Given the description of an element on the screen output the (x, y) to click on. 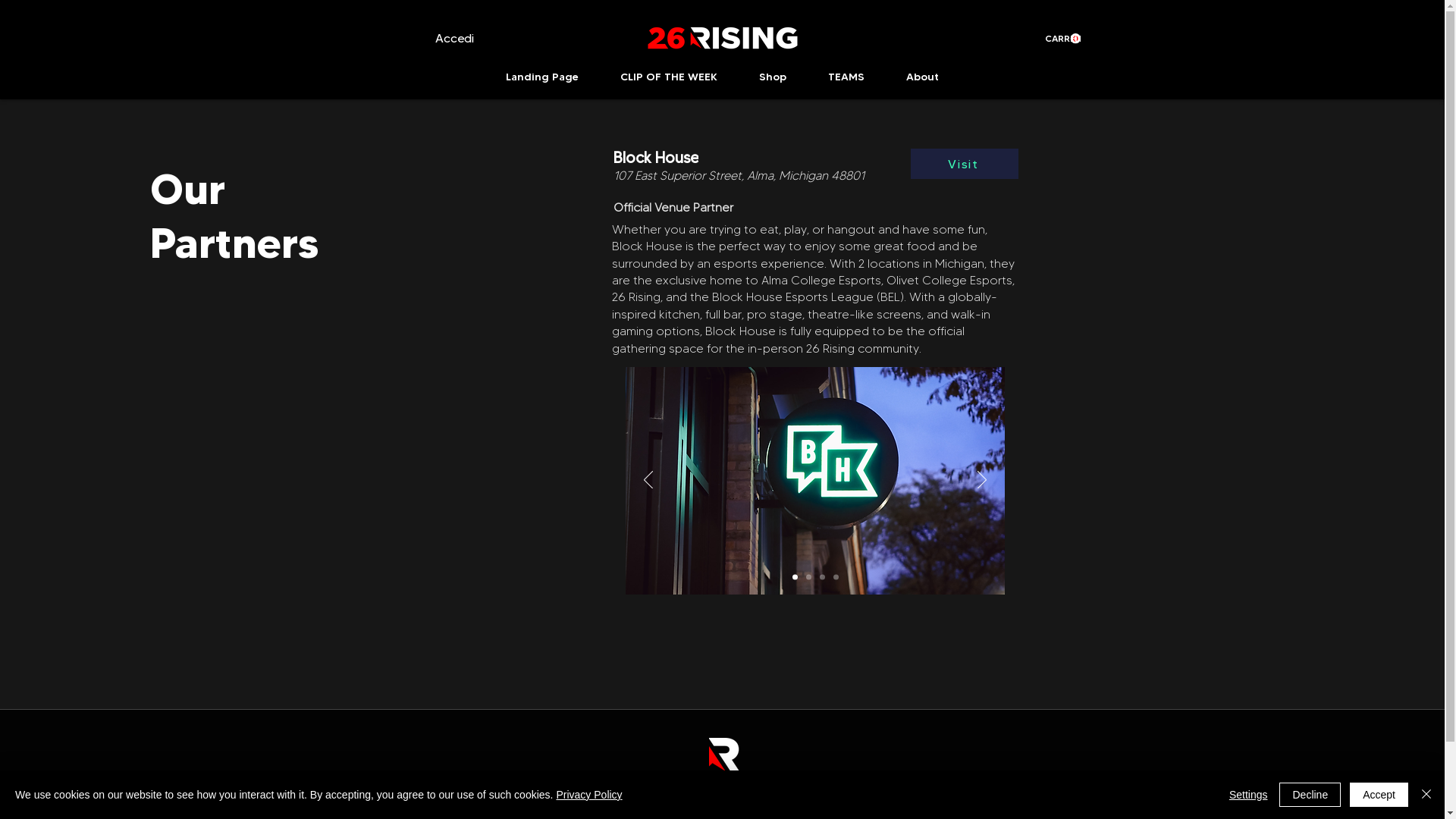
Shop Element type: text (772, 76)
Decline Element type: text (1309, 794)
CLIP OF THE WEEK Element type: text (668, 76)
Landing Page Element type: text (541, 76)
Privacy Policy Element type: text (588, 794)
Accept Element type: text (1378, 794)
Visit Element type: text (964, 163)
Accedi Element type: text (454, 38)
0
CARRELLO Element type: text (1062, 38)
About Element type: text (922, 76)
Block House Element type: text (658, 157)
